Given the description of an element on the screen output the (x, y) to click on. 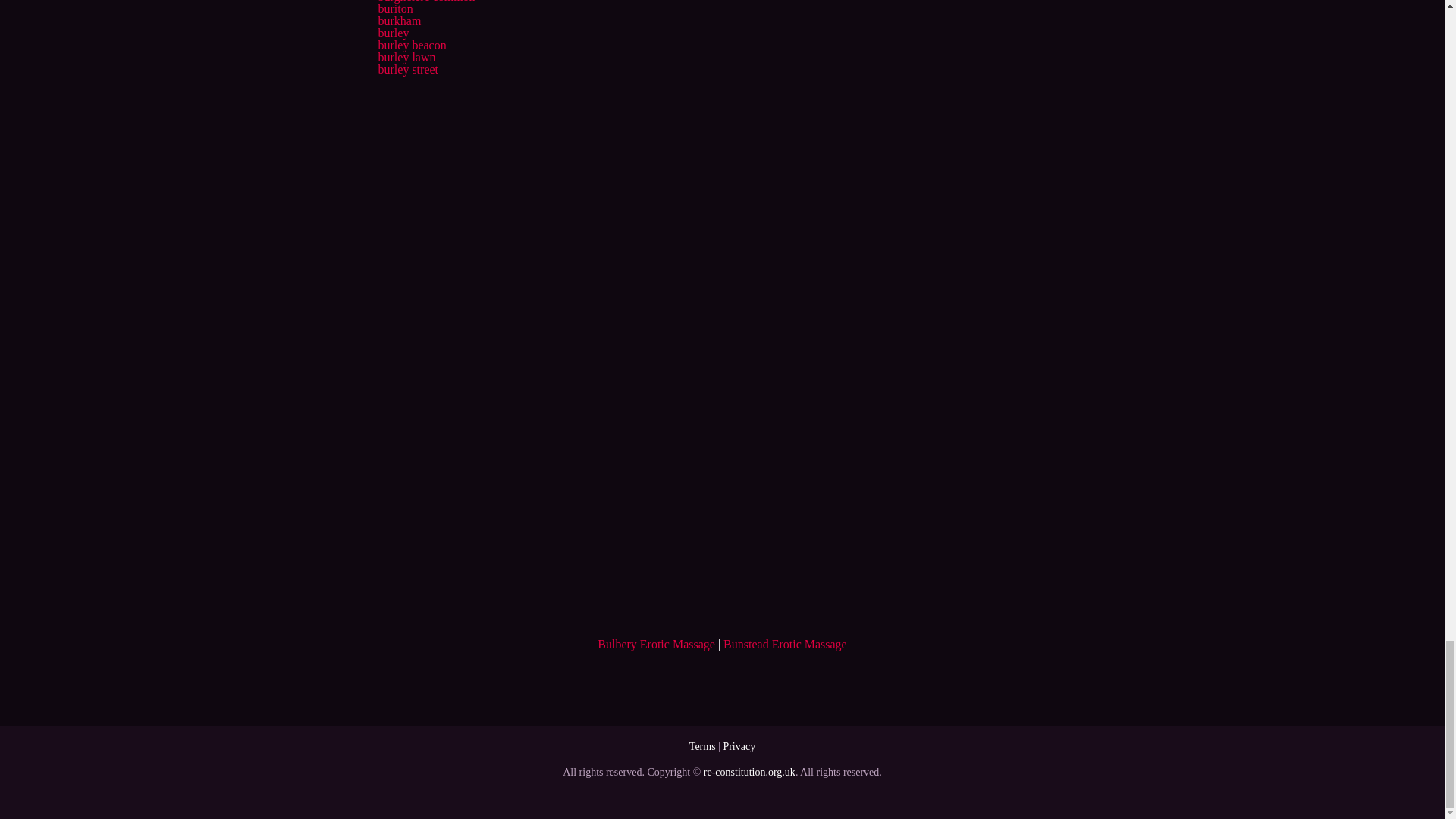
Bunstead Erotic Massage (785, 644)
burley (393, 32)
burley lawn (406, 56)
Privacy (738, 746)
burley beacon (411, 44)
Privacy (738, 746)
re-constitution.org.uk (748, 772)
buriton (394, 8)
Terms (702, 746)
burley street (407, 69)
